Given the description of an element on the screen output the (x, y) to click on. 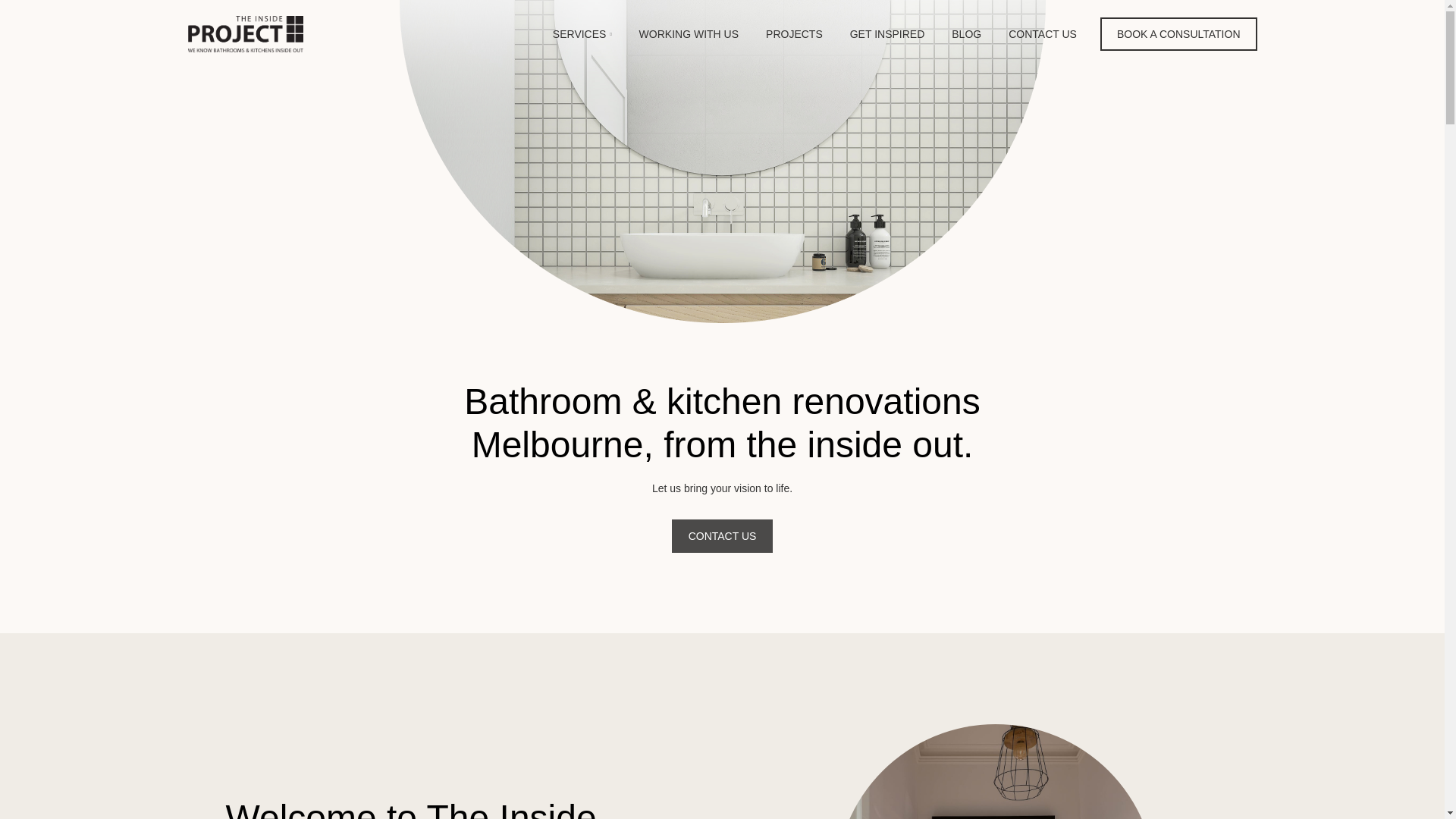
CONTACT US (1043, 33)
WORKING WITH US (688, 33)
BOOK A CONSULTATION (1178, 33)
GET INSPIRED (887, 33)
CONTACT US (722, 535)
SKIP TO NAVIGATION (26, 30)
